Given the description of an element on the screen output the (x, y) to click on. 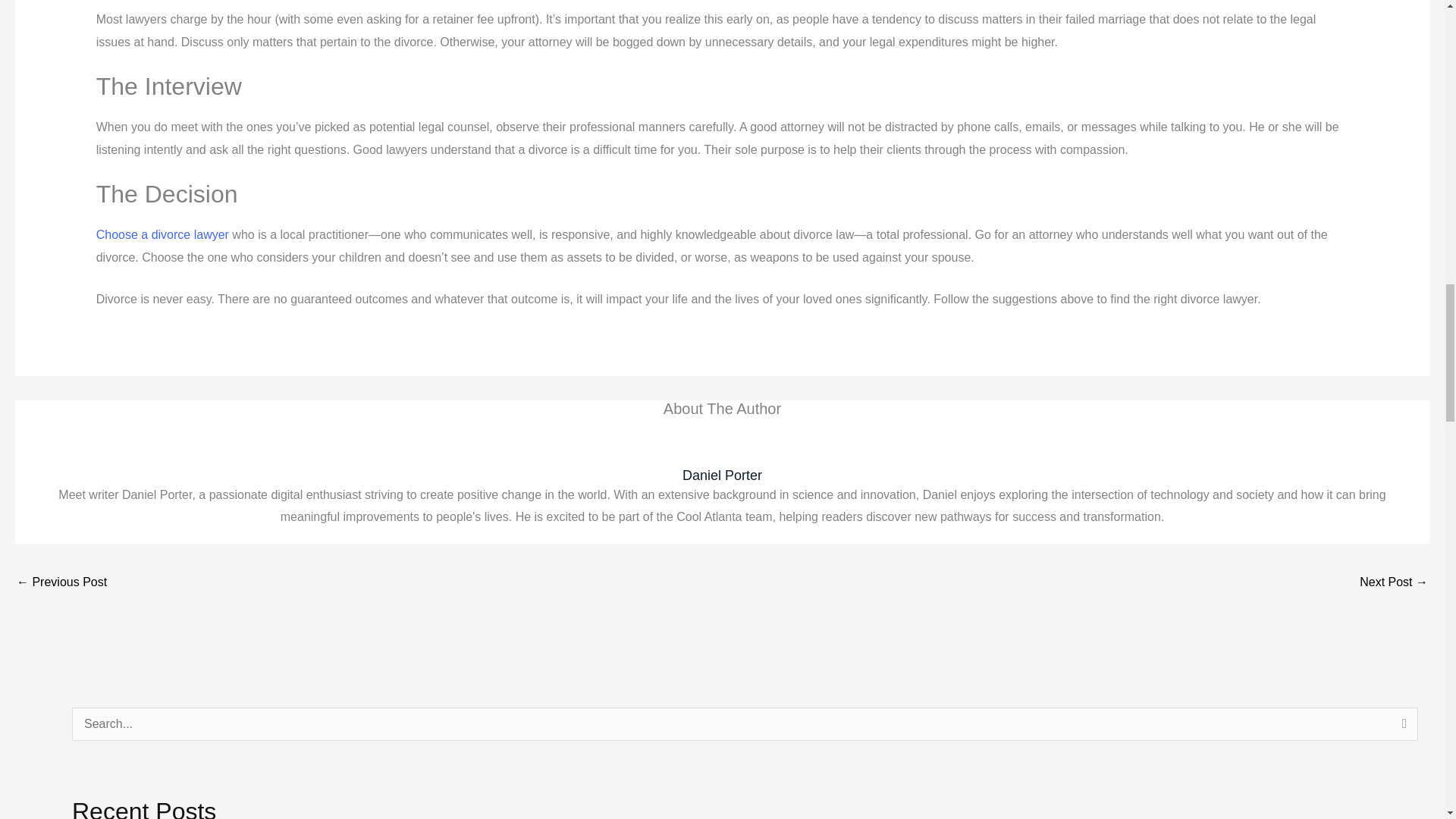
Shelving Systems to Consider for Your Store or Warehouse (61, 583)
Daniel Porter (721, 475)
USA TODAY (162, 234)
Careers in IT: In-Demand and High Salaries (1393, 583)
Choose a divorce lawyer (162, 234)
